Given the description of an element on the screen output the (x, y) to click on. 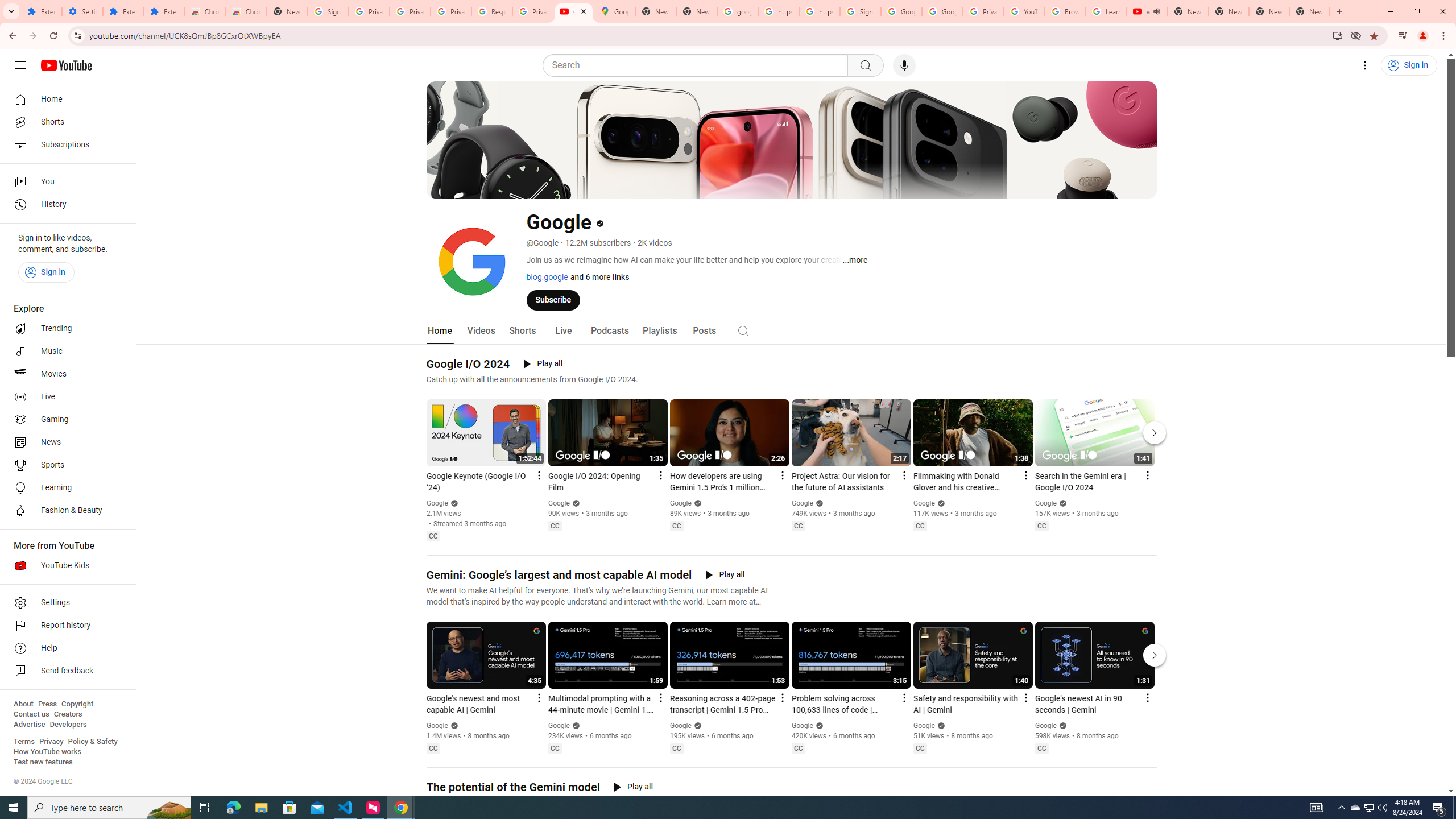
Advertise (29, 724)
https://scholar.google.com/ (818, 11)
New Tab (1309, 11)
Shorts (521, 330)
https://scholar.google.com/ (777, 11)
Fashion & Beauty (64, 510)
Live (562, 330)
Videos (481, 330)
